Given the description of an element on the screen output the (x, y) to click on. 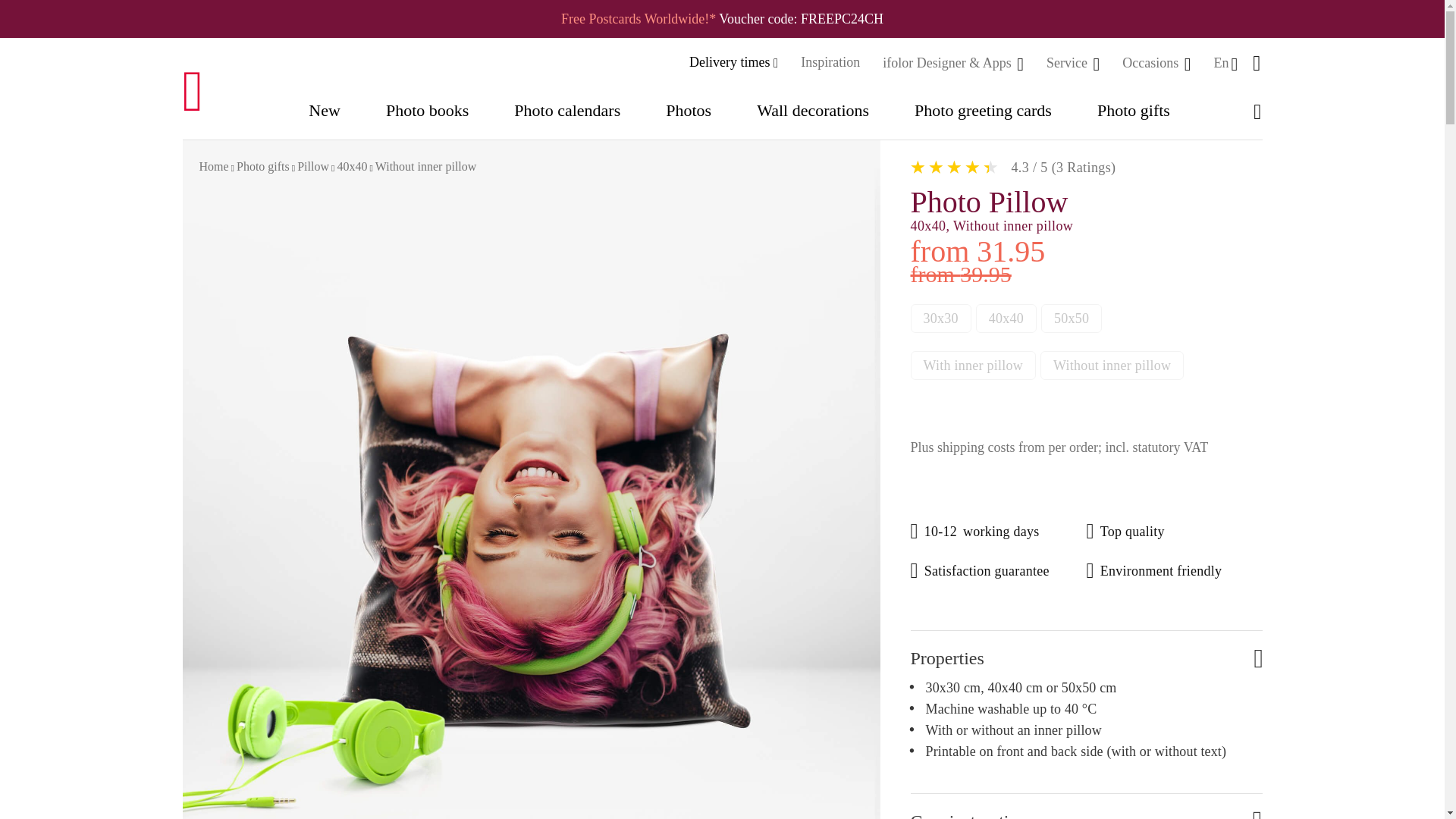
Inspiration (830, 61)
Inspiration (830, 61)
Delivery times (733, 61)
Delivery times (733, 61)
Occasions (1151, 62)
